Given the description of an element on the screen output the (x, y) to click on. 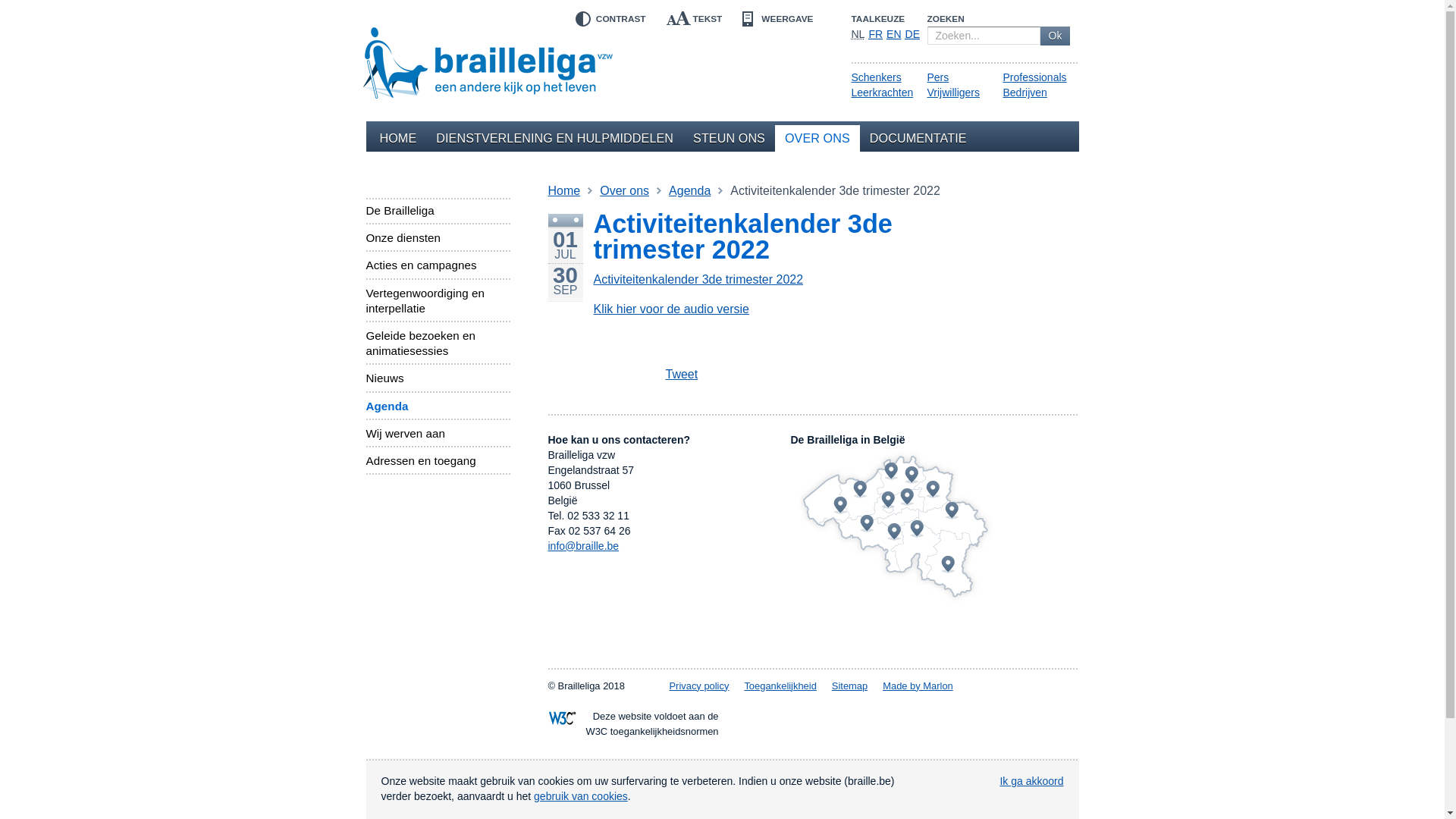
STEUN ONS Element type: text (729, 138)
Activiteitenkalender 3de trimester 2022 Element type: text (698, 279)
Agenda Element type: text (689, 190)
Ik ga akkoord Element type: text (1031, 780)
NL Element type: text (857, 33)
DIENSTVERLENING EN HULPMIDDELEN Element type: text (554, 138)
Sitemap Element type: text (849, 685)
Tweet Element type: text (664, 375)
Made by Marlon Element type: text (917, 685)
Onze diensten Element type: text (437, 237)
Adressen en toegang Element type: text (437, 460)
TEKST Element type: text (693, 18)
Wij werven aan Element type: text (437, 433)
Ok Element type: text (1055, 35)
CONTRAST Element type: text (607, 18)
De Brailleliga Element type: text (437, 210)
gebruik van cookies Element type: text (580, 796)
HOME Element type: text (398, 138)
Vrijwilligers Element type: text (952, 92)
DE Element type: text (912, 33)
Toegankelijkheid Element type: text (779, 685)
Vertegenwoordiging en interpellatie Element type: text (437, 300)
OVER ONS Element type: text (817, 138)
Home Element type: text (563, 190)
DOCUMENTATIE Element type: text (917, 138)
WEERGAVE Element type: text (776, 18)
Privacy policy Element type: text (698, 685)
Over ons Element type: text (624, 190)
Bedrijven Element type: text (1024, 92)
Klik hier voor de audio versie Element type: text (670, 308)
Geleide bezoeken en animatiesessies Element type: text (437, 343)
Leerkrachten Element type: text (881, 92)
Professionals Element type: text (1034, 76)
Acties en campagnes Element type: text (437, 265)
FR Element type: text (875, 33)
info@braille.be Element type: text (582, 545)
Schenkers Element type: text (875, 76)
Pers Element type: text (937, 76)
Nieuws Element type: text (437, 378)
Brailleliga Element type: hover (487, 59)
EN Element type: text (893, 33)
Agenda Element type: text (437, 406)
